Given the description of an element on the screen output the (x, y) to click on. 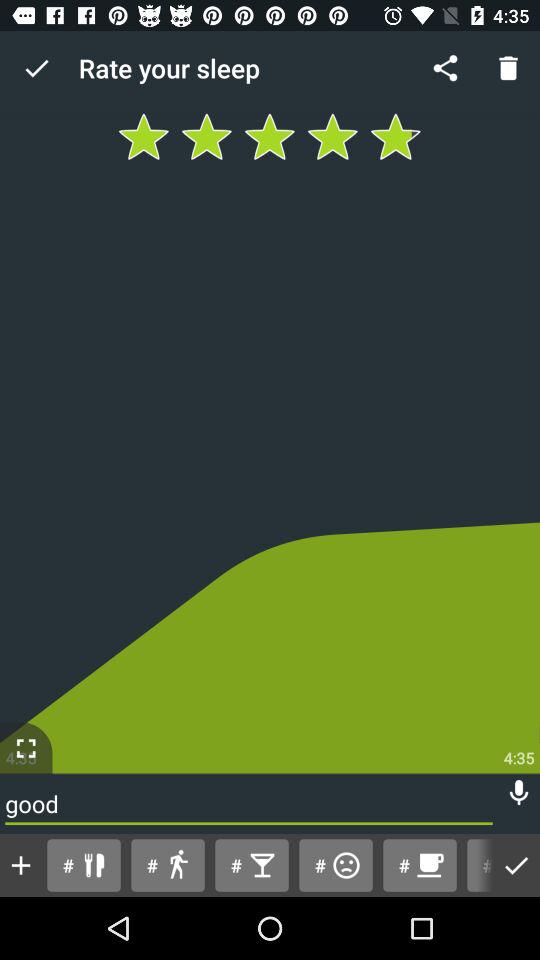
open the icon below good (476, 864)
